Given the description of an element on the screen output the (x, y) to click on. 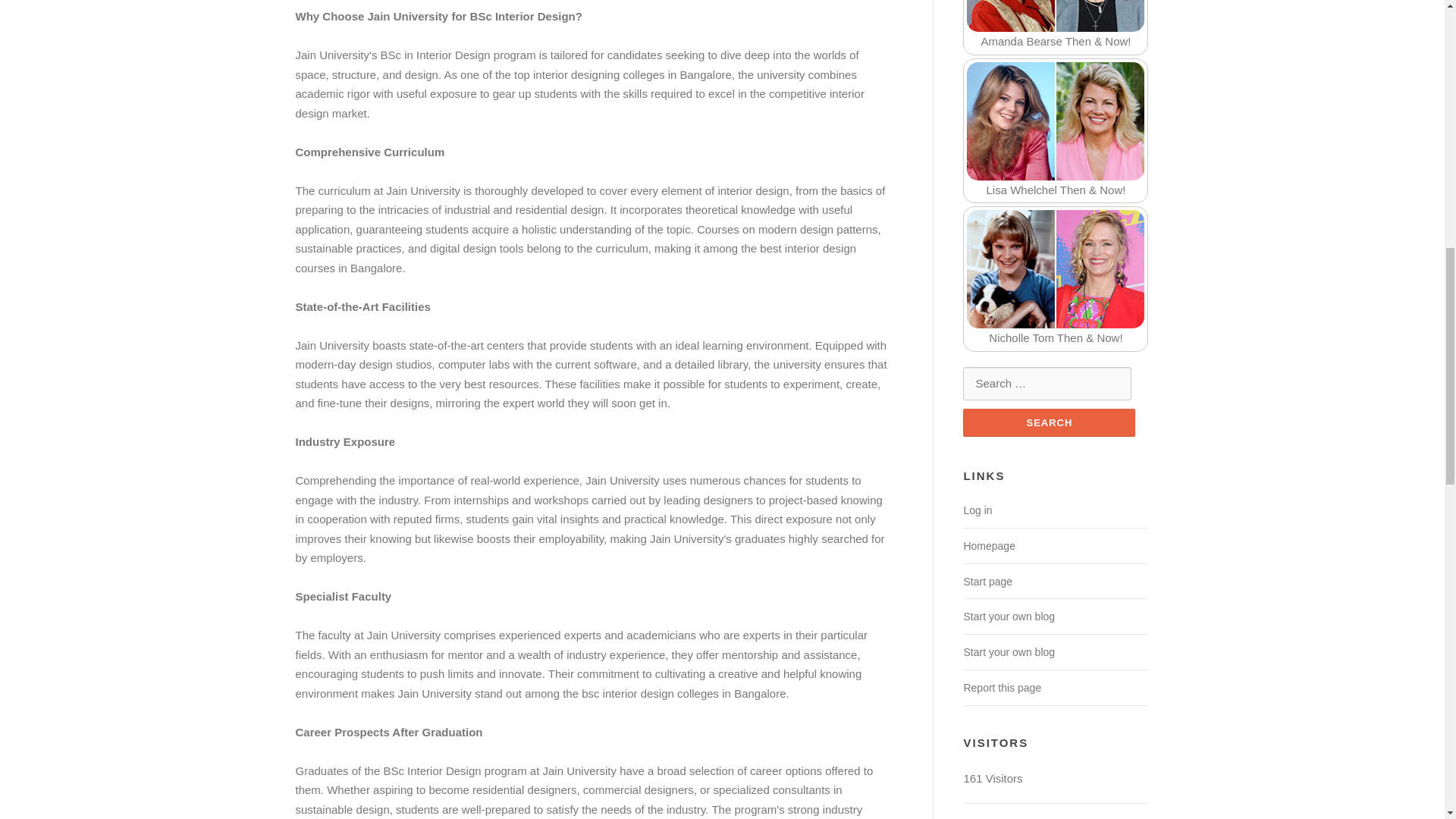
Report this page (1001, 687)
Search (1048, 422)
Homepage (988, 545)
Search (1048, 422)
Search (1048, 422)
Log in (976, 510)
Start your own blog (1008, 616)
Start page (986, 581)
Start your own blog (1008, 652)
